Given the description of an element on the screen output the (x, y) to click on. 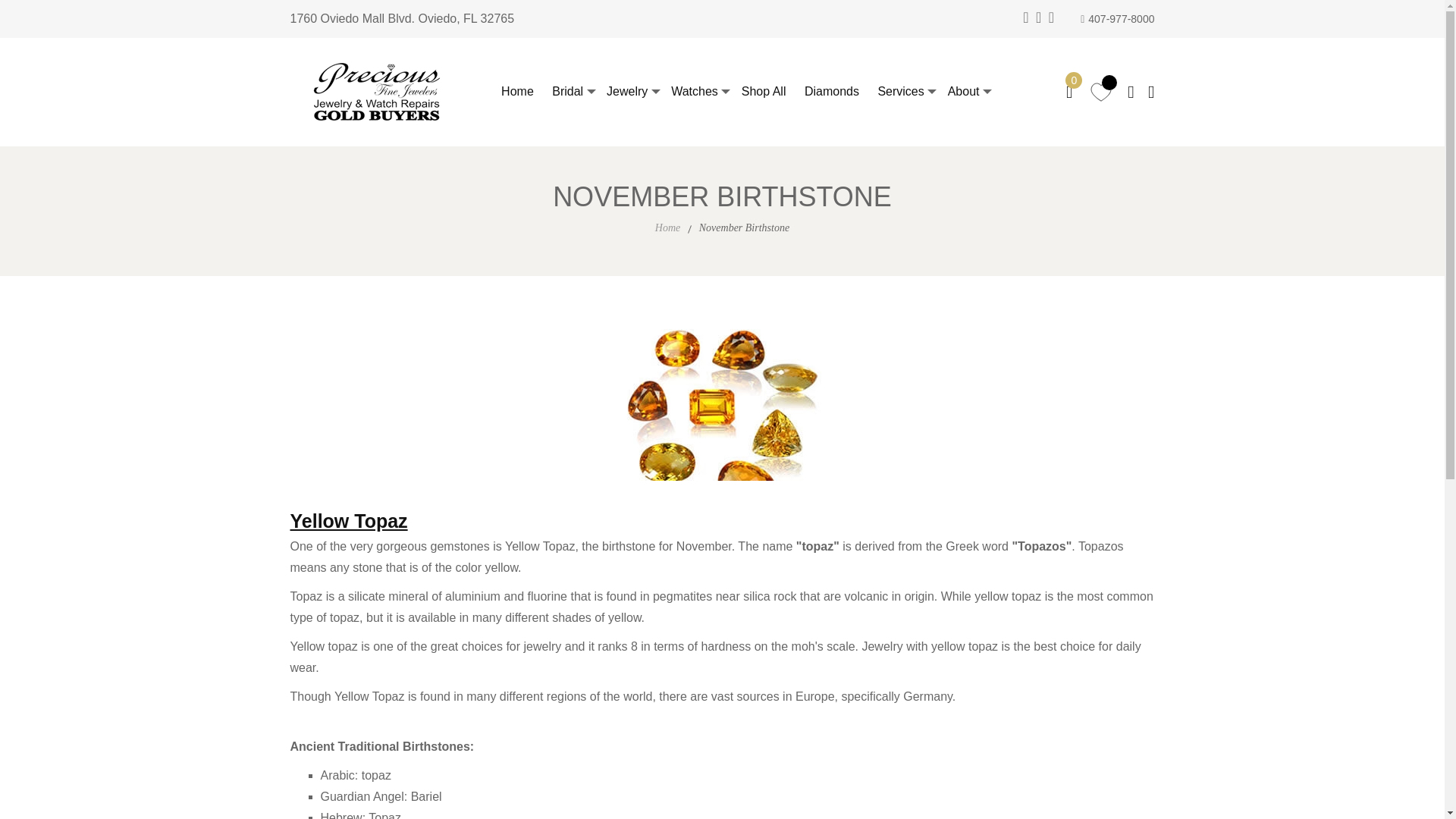
Shop All (756, 91)
Watches (686, 91)
Services (892, 91)
Bridal (560, 91)
407-977-8000 (1117, 19)
Jewelry (619, 91)
Back to the home page (667, 227)
Home (510, 91)
Diamonds (824, 91)
About (956, 91)
